Given the description of an element on the screen output the (x, y) to click on. 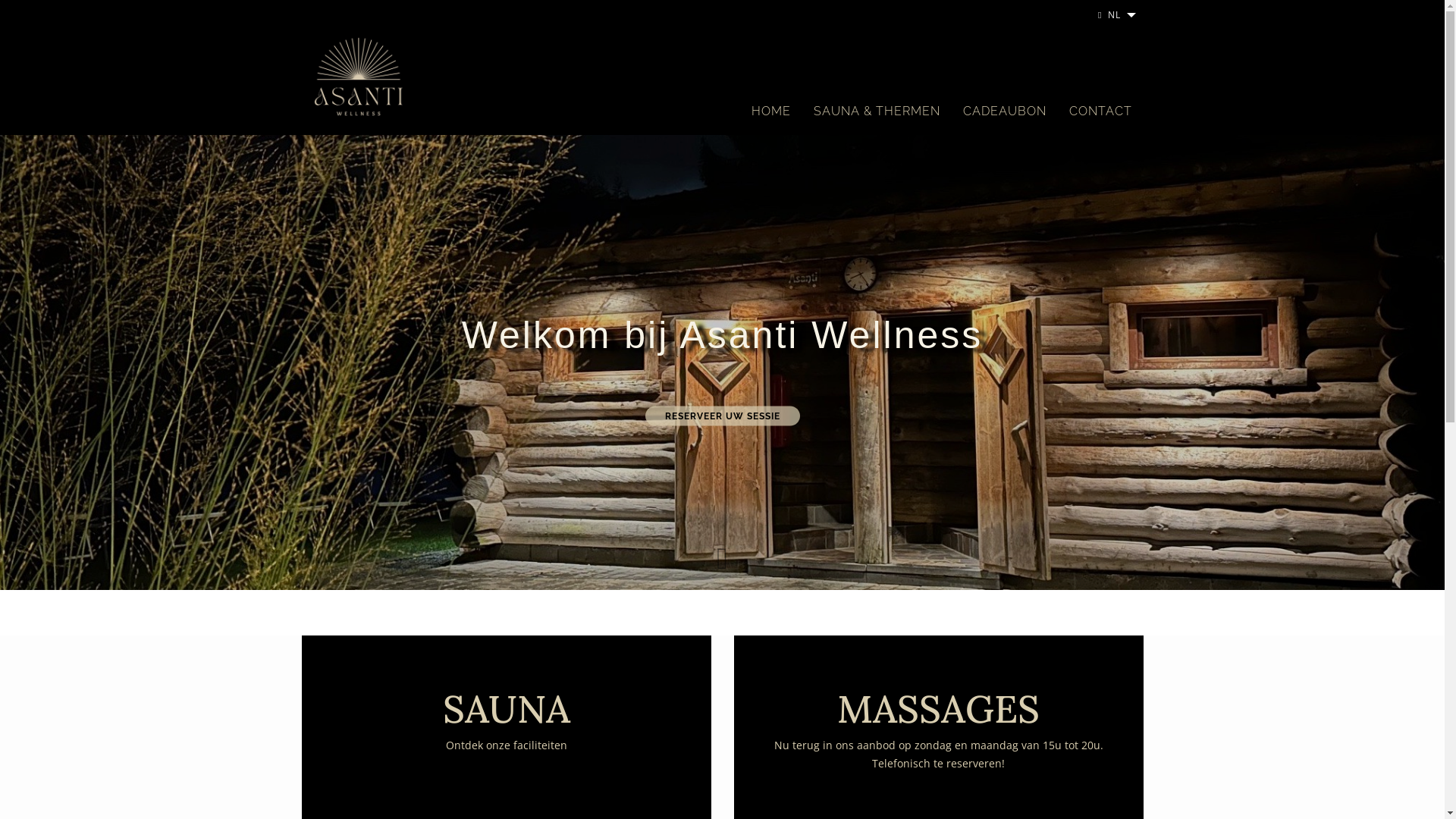
HOME Element type: text (771, 111)
CONTACT Element type: text (1099, 111)
CADEAUBON Element type: text (1003, 111)
NL Element type: text (1115, 15)
SAUNA & THERMEN Element type: text (876, 111)
RESERVEER UW SESSIE Element type: text (721, 415)
